Given the description of an element on the screen output the (x, y) to click on. 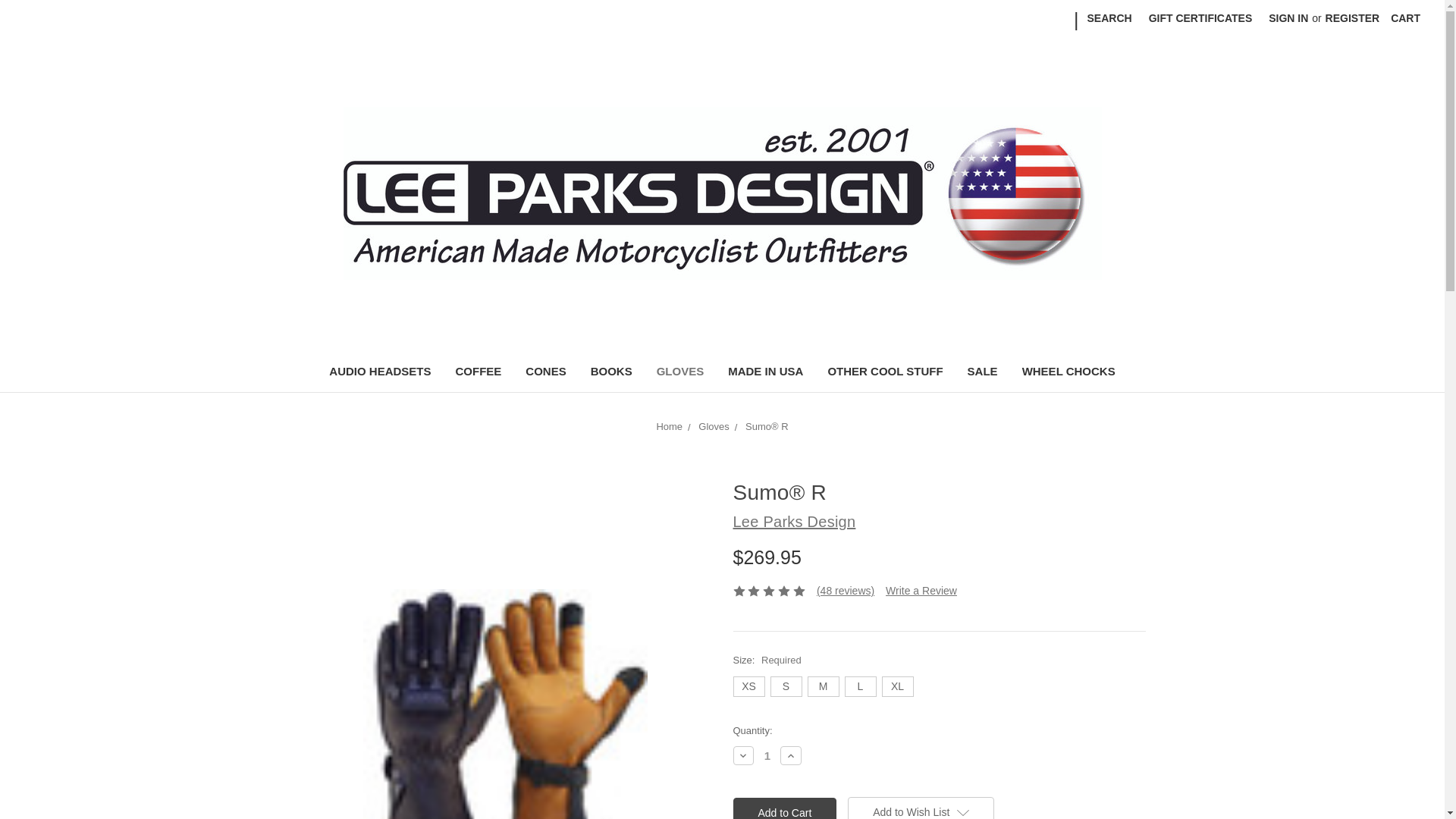
Increase Quantity: (791, 755)
COFFEE (477, 373)
REGISTER (1353, 18)
Home (669, 426)
1 (767, 755)
CART (1404, 18)
Add to Cart (783, 808)
Write a Review (920, 590)
GLOVES (680, 373)
Add to Wish List (920, 807)
Gloves (713, 426)
Decrease Quantity: (743, 755)
